Given the description of an element on the screen output the (x, y) to click on. 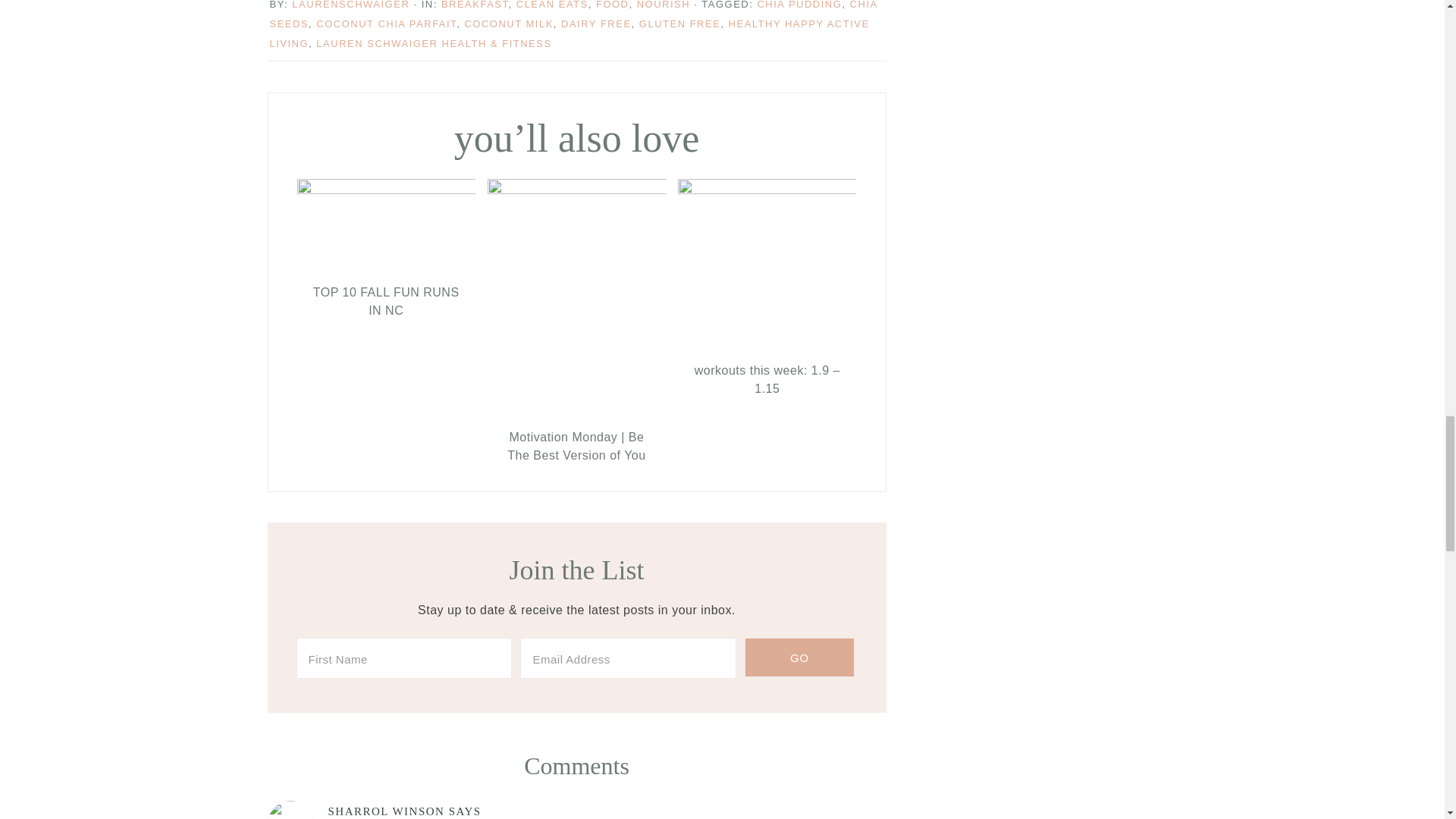
Go (798, 657)
Permanent Link to TOP 10 FALL FUN RUNS IN NC (386, 189)
Permanent Link to TOP 10 FALL FUN RUNS IN NC (386, 301)
